Given the description of an element on the screen output the (x, y) to click on. 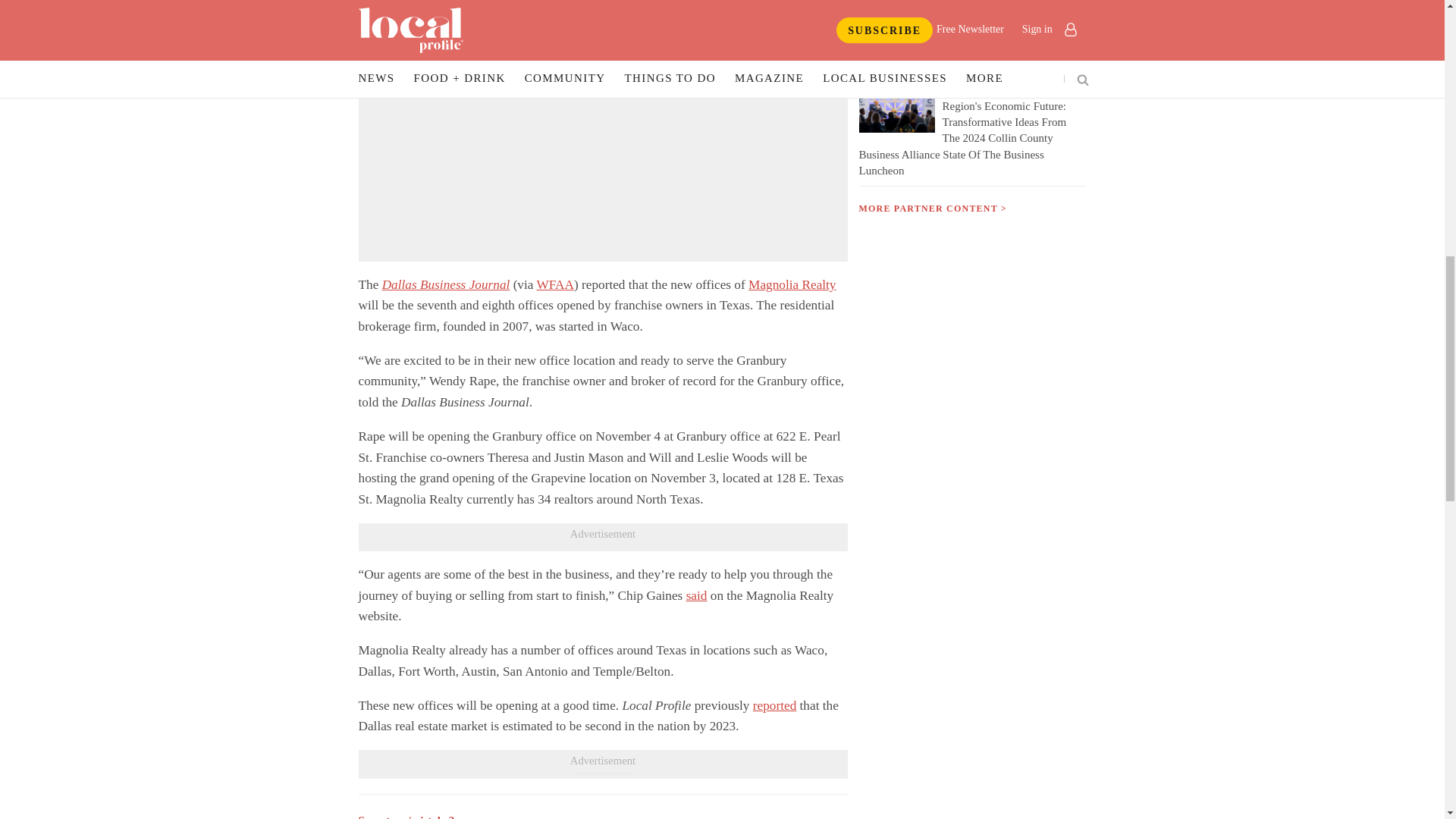
3rd party ad content (602, 162)
